Given the description of an element on the screen output the (x, y) to click on. 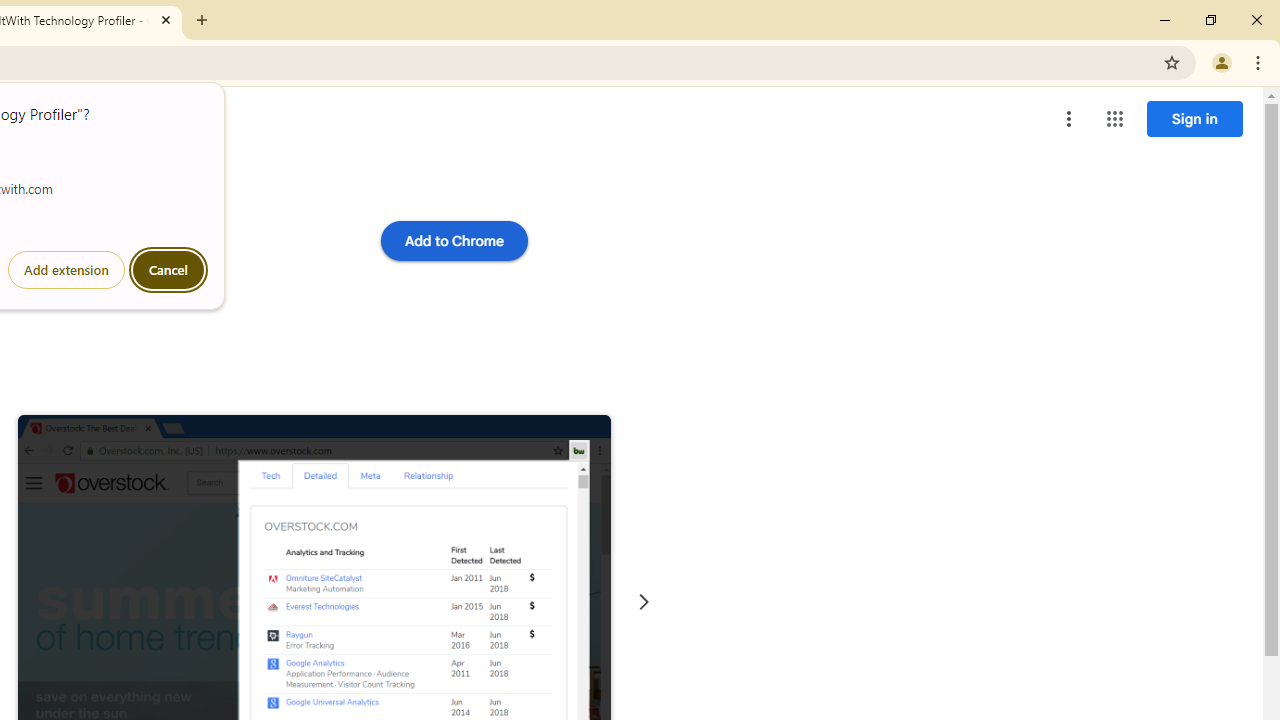
More options menu (1069, 118)
Add to Chrome (453, 240)
Next slide (643, 601)
Cancel (168, 269)
Add extension (66, 269)
